Given the description of an element on the screen output the (x, y) to click on. 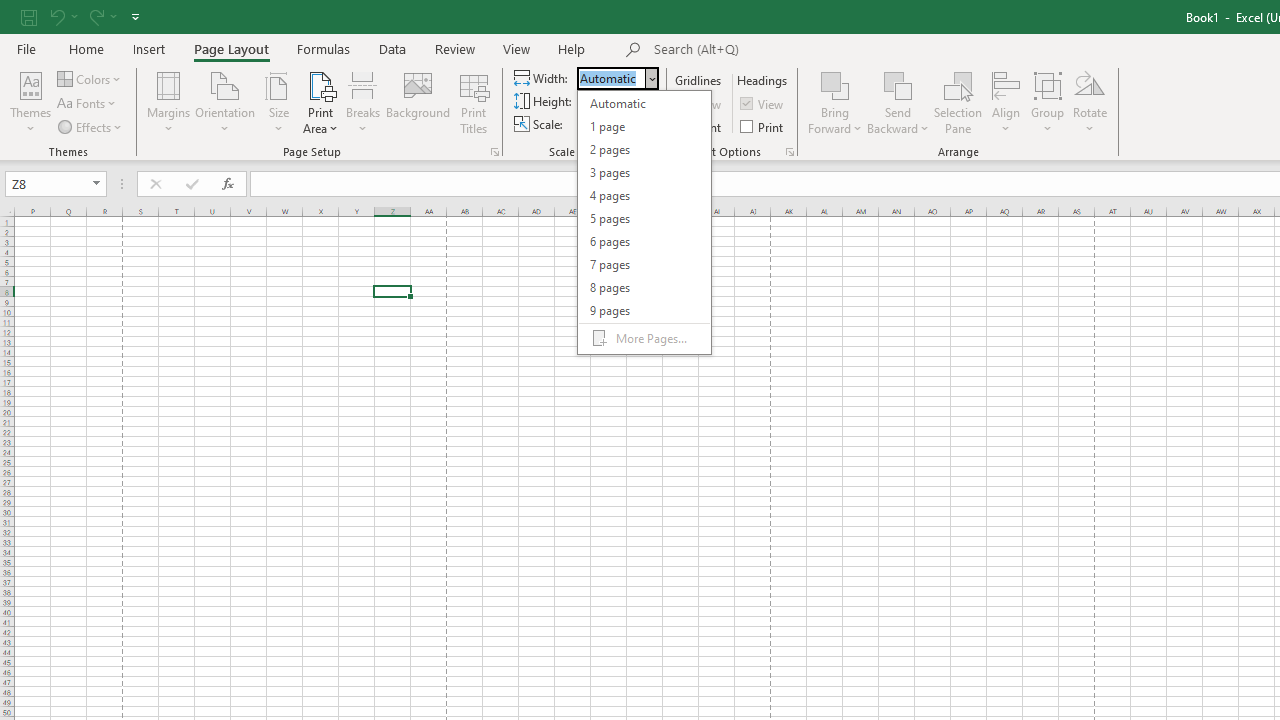
System (10, 11)
Help (572, 48)
Name Box (46, 183)
Sheet Options (789, 151)
Save (29, 15)
Formulas (323, 48)
Insert (149, 48)
